Given the description of an element on the screen output the (x, y) to click on. 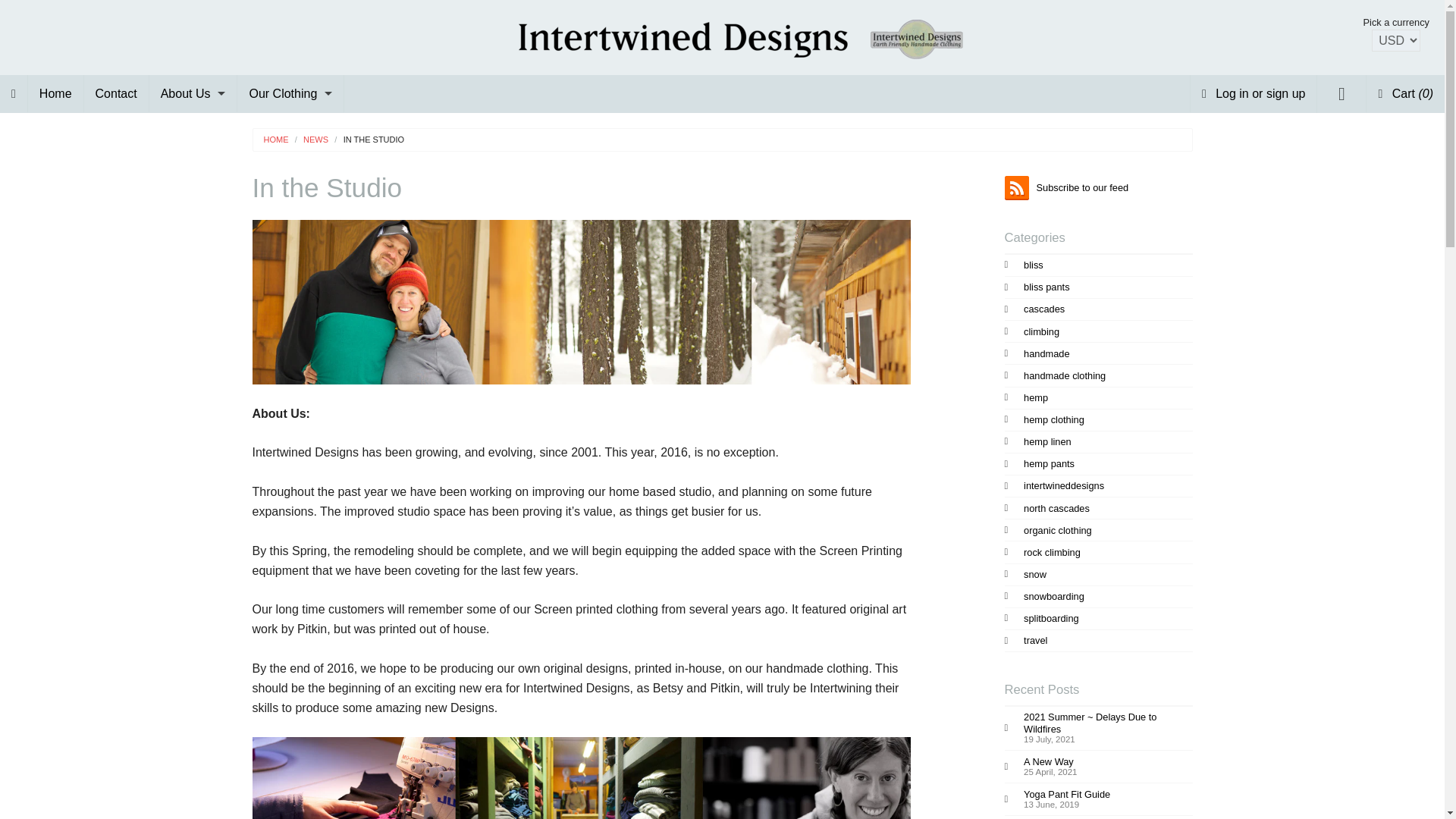
NEWS (308, 139)
Contact (116, 93)
About Us (193, 93)
IN THE STUDIO (366, 139)
Home (54, 93)
HOME (275, 139)
Log in or sign up (1254, 93)
Intertwined Designs (721, 36)
Our Clothing (290, 93)
